Given the description of an element on the screen output the (x, y) to click on. 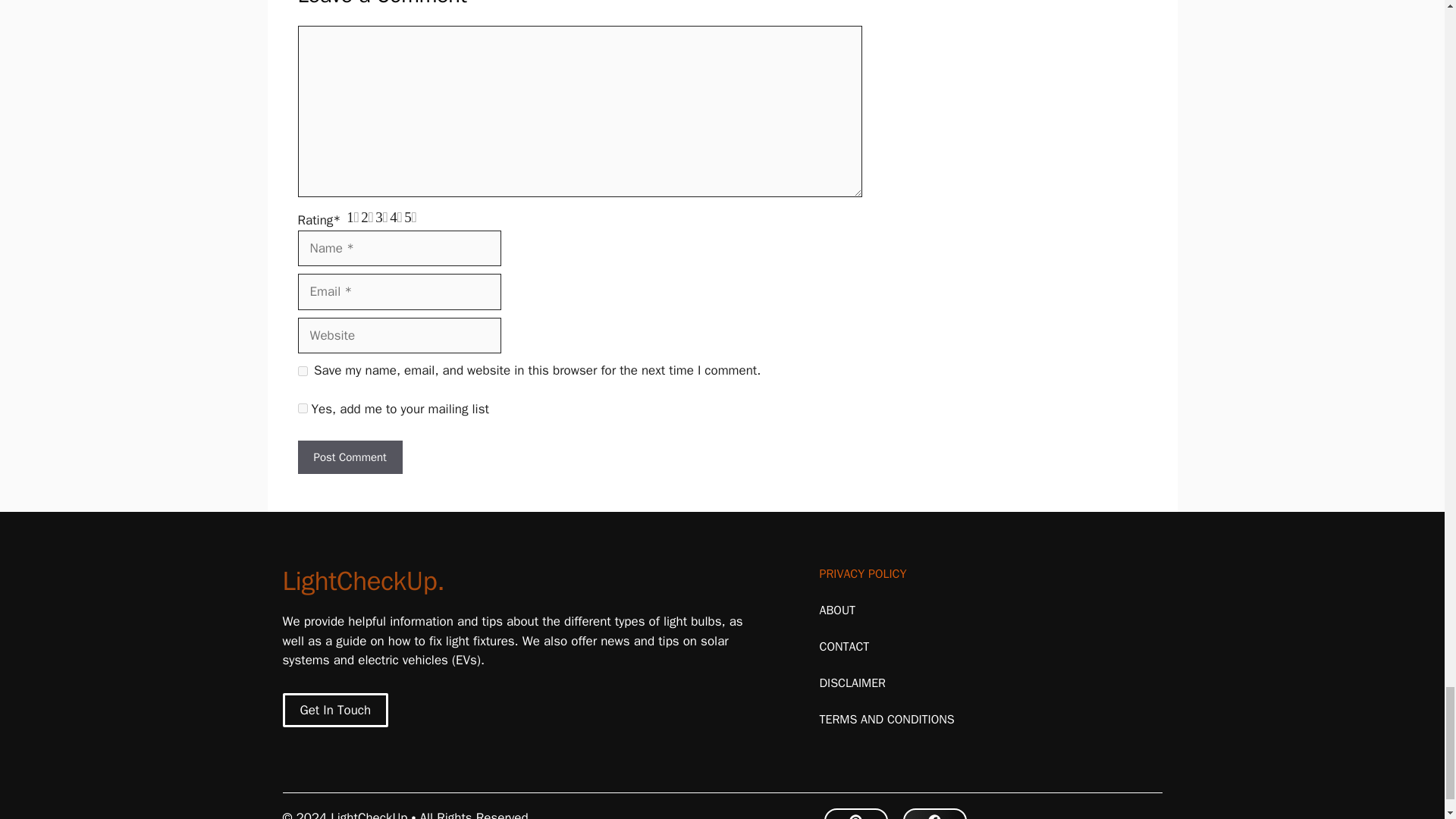
yes (302, 370)
1 (302, 408)
Post Comment (349, 457)
